Given the description of an element on the screen output the (x, y) to click on. 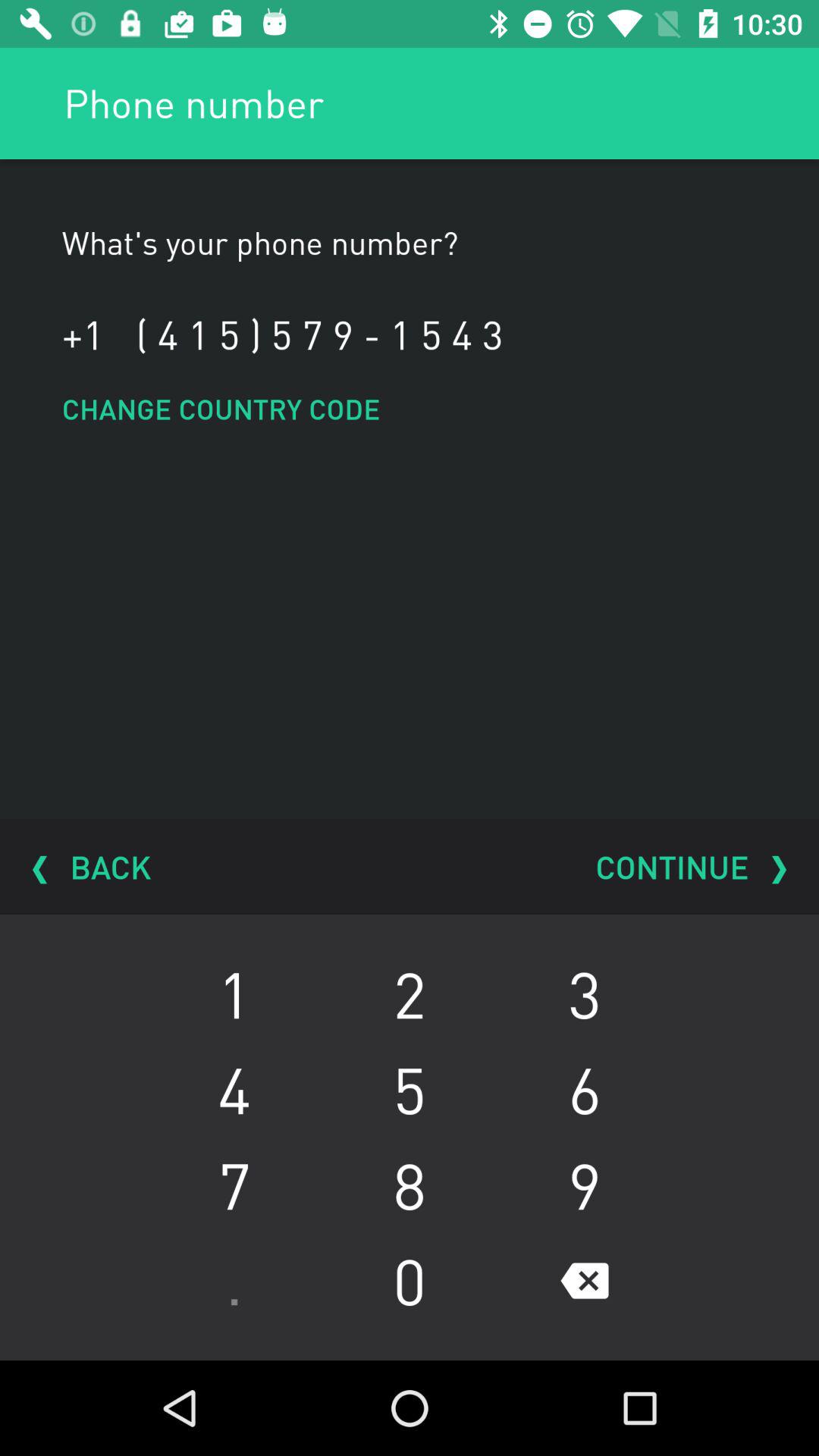
click on 7 (234, 1185)
select the number 6 (584, 1089)
click on the button which is below 9 (584, 1281)
click on button left to 0 at bottom (234, 1281)
click on the numbers above change country code beside 1 (319, 334)
